Given the description of an element on the screen output the (x, y) to click on. 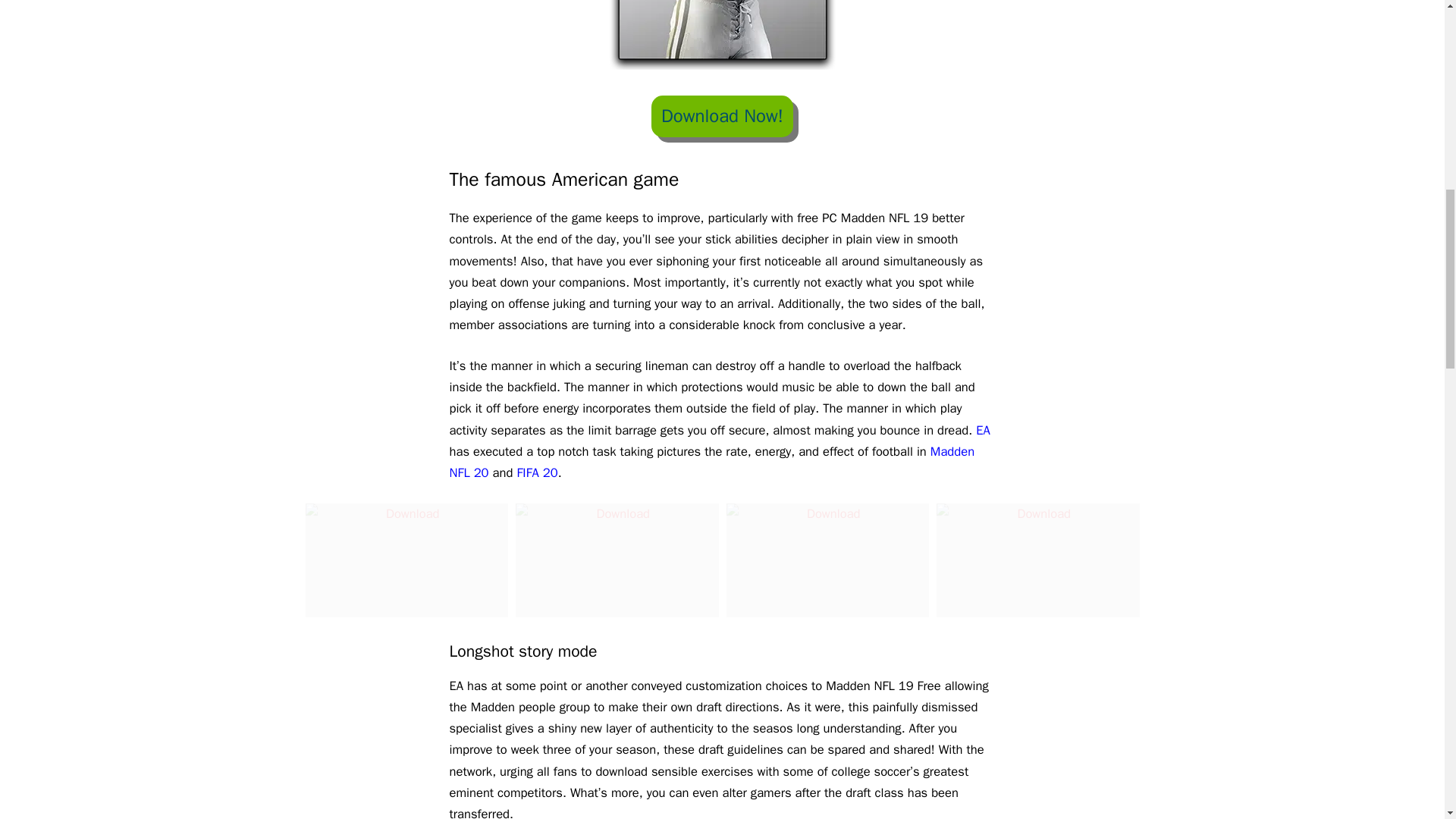
EA (982, 430)
Madden NFL 19 PC download 3 (617, 560)
Madden NFL 20 (711, 461)
Madden NFL 19 PC download 1 (721, 34)
FIFA 20 (536, 472)
Madden NFL 19 PC download 4 (828, 560)
Download Now! (721, 116)
Madden NFL 19 PC download 5 (1038, 560)
Madden NFL 19 PC download 2 (406, 560)
